Given the description of an element on the screen output the (x, y) to click on. 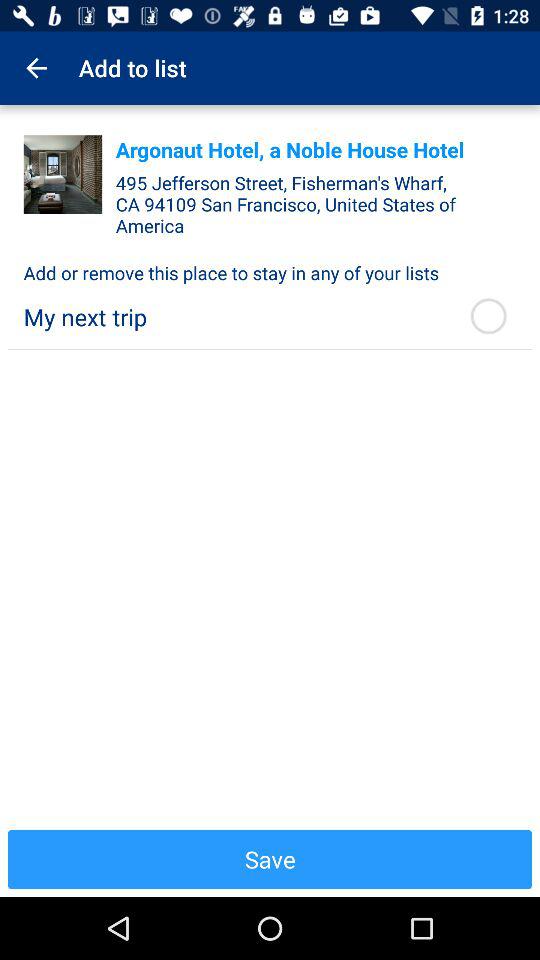
turn off the app next to the add to list item (36, 68)
